Given the description of an element on the screen output the (x, y) to click on. 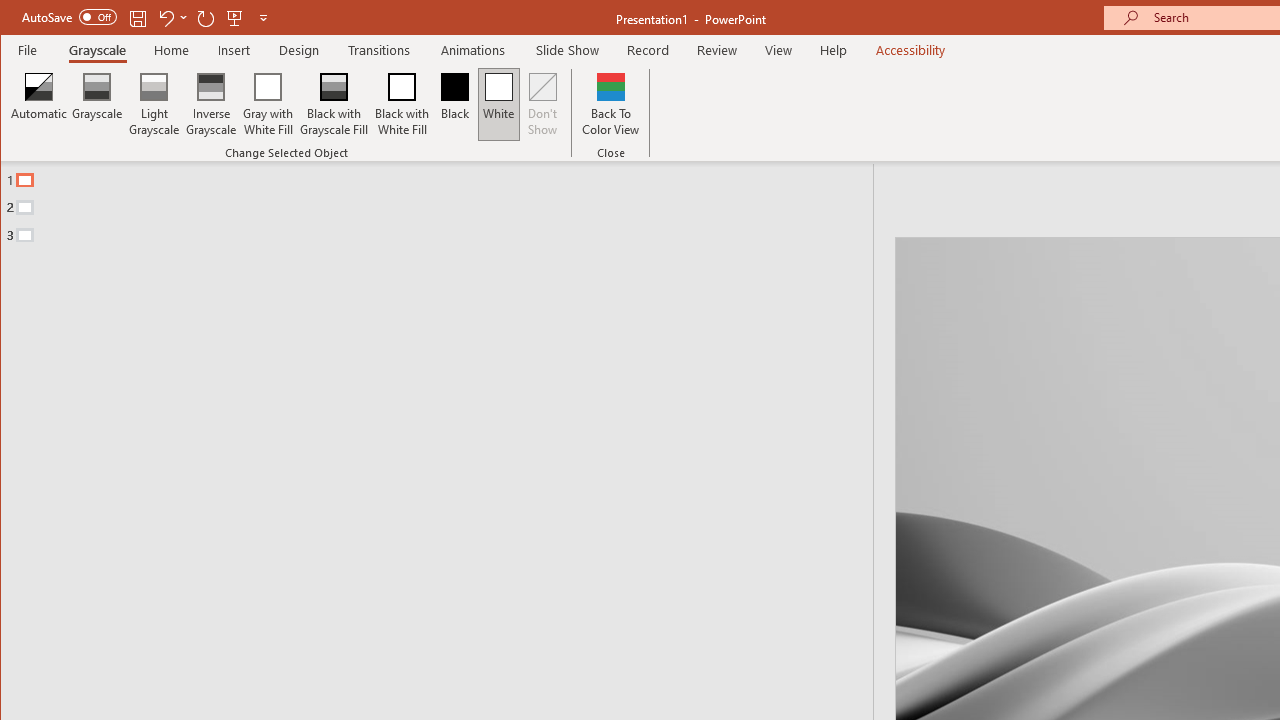
White (498, 104)
Review (717, 50)
Inverse Grayscale (211, 104)
Light Grayscale (153, 104)
Home (171, 50)
Insert (233, 50)
Design (299, 50)
Animations (473, 50)
Transitions (379, 50)
Save (138, 17)
Quick Access Toolbar (146, 17)
File Tab (28, 49)
